Given the description of an element on the screen output the (x, y) to click on. 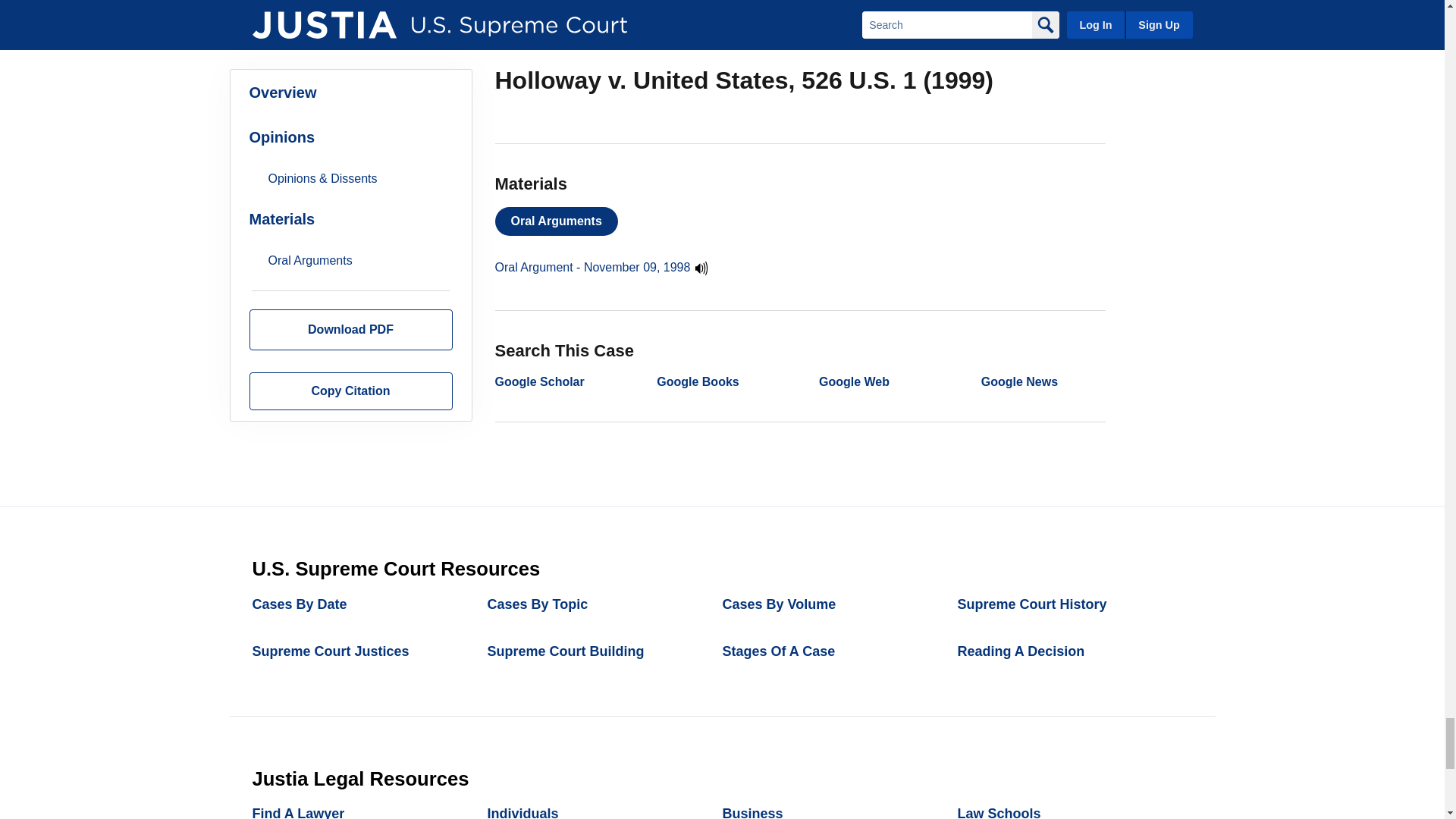
Law - Google Scholar (539, 381)
Law - Google Books (697, 381)
Law - Google News (1019, 381)
Law - Google Web (853, 381)
